Given the description of an element on the screen output the (x, y) to click on. 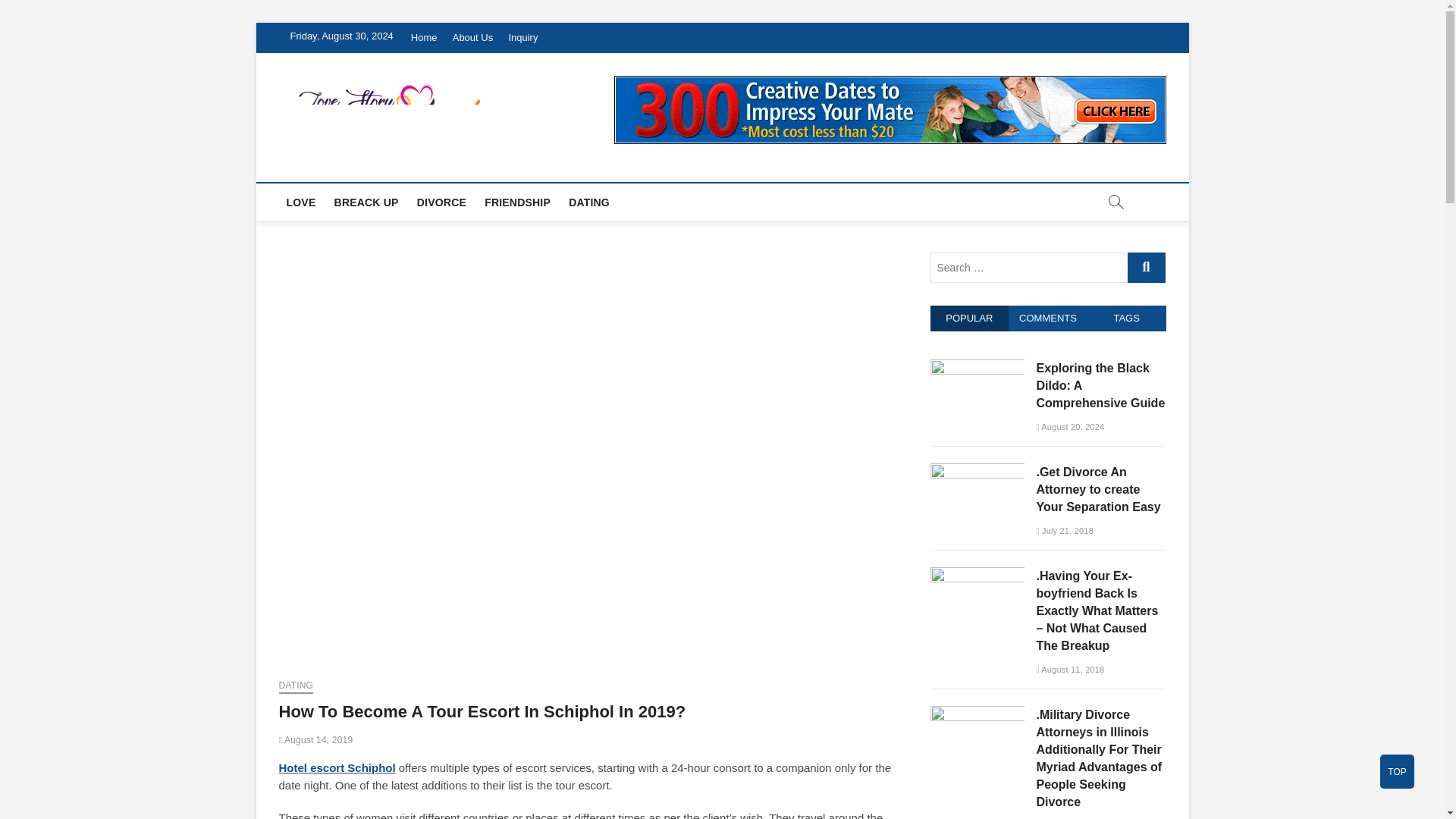
August 20, 2024 (1069, 426)
TAGS (1126, 318)
FRIENDSHIP (517, 202)
DIVORCE (441, 202)
July 21, 2018 (1064, 530)
August 14, 2019 (316, 739)
POPULAR (969, 318)
BREACK UP (366, 202)
August 14, 2019 (316, 739)
COMMENTS (1048, 318)
